Given the description of an element on the screen output the (x, y) to click on. 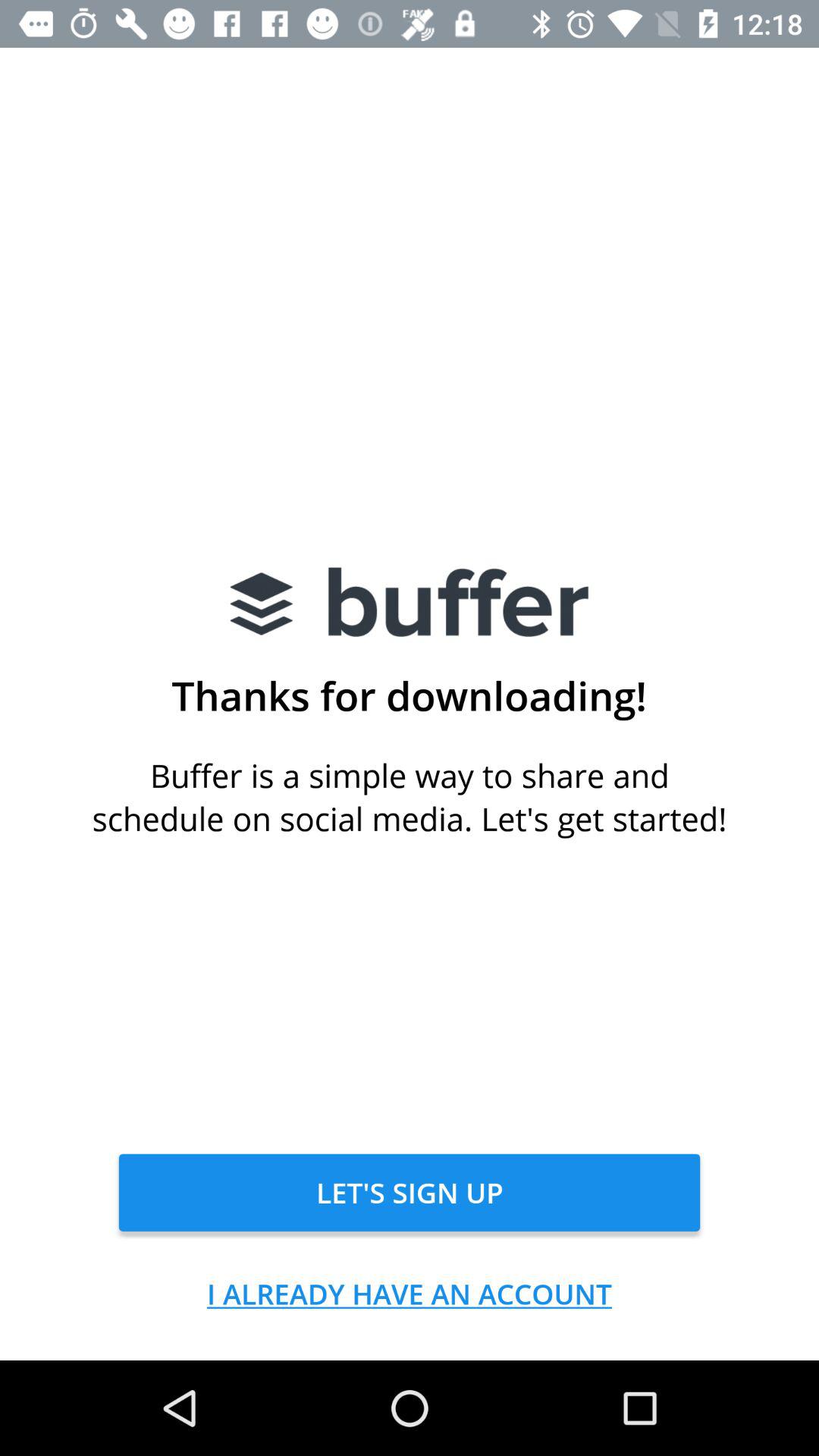
launch i already have (409, 1293)
